Given the description of an element on the screen output the (x, y) to click on. 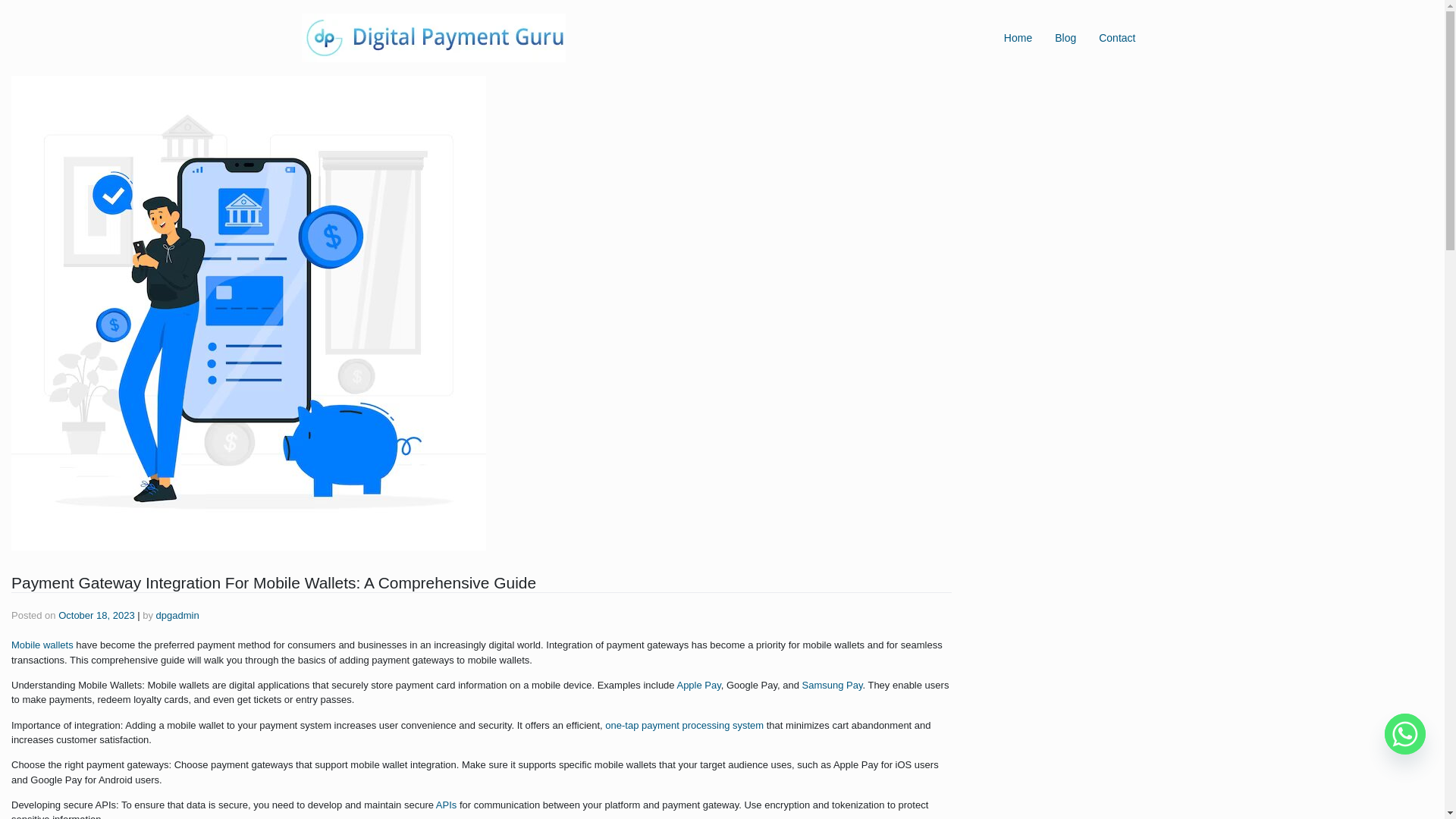
Contact (1117, 37)
Samsung Pay (831, 685)
Apple Pay (698, 685)
October 18, 2023 (95, 614)
dpgadmin (177, 614)
Mobile wallets (42, 644)
APIs (446, 804)
one-tap payment processing system (683, 725)
